Given the description of an element on the screen output the (x, y) to click on. 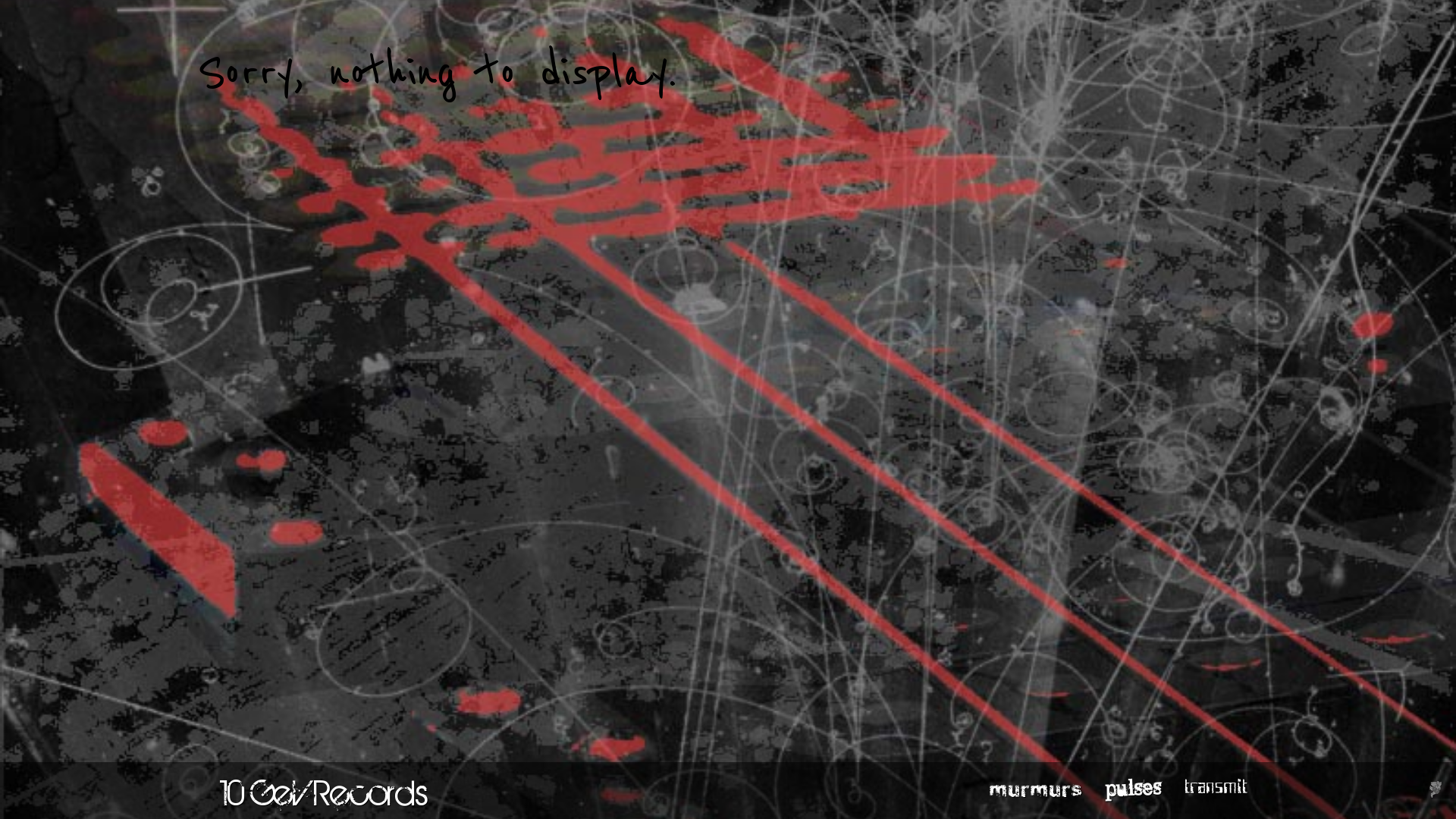
pulses Element type: text (1132, 787)
10 GeV Records Element type: text (323, 792)
murmurs Element type: text (1036, 789)
transmit Element type: text (1215, 789)
